Given the description of an element on the screen output the (x, y) to click on. 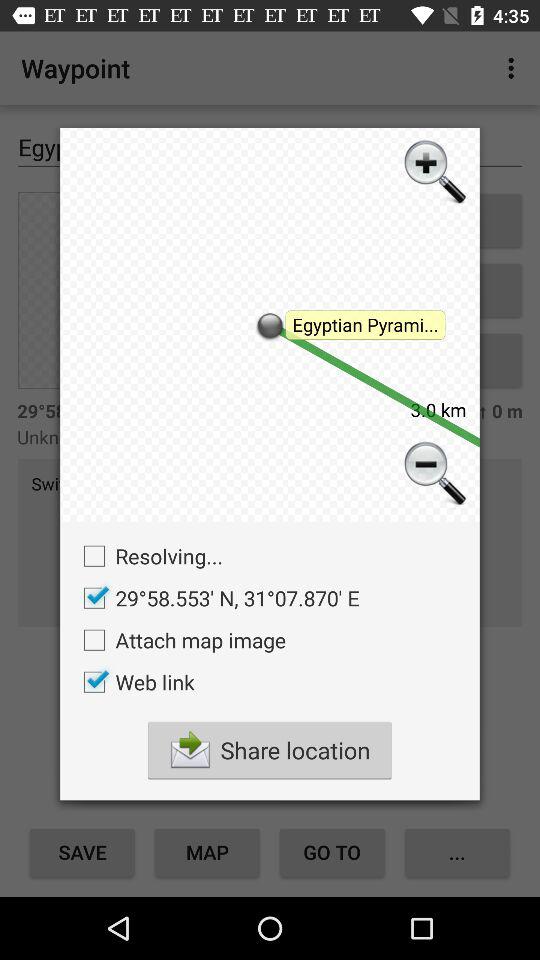
select share location (269, 750)
